Given the description of an element on the screen output the (x, y) to click on. 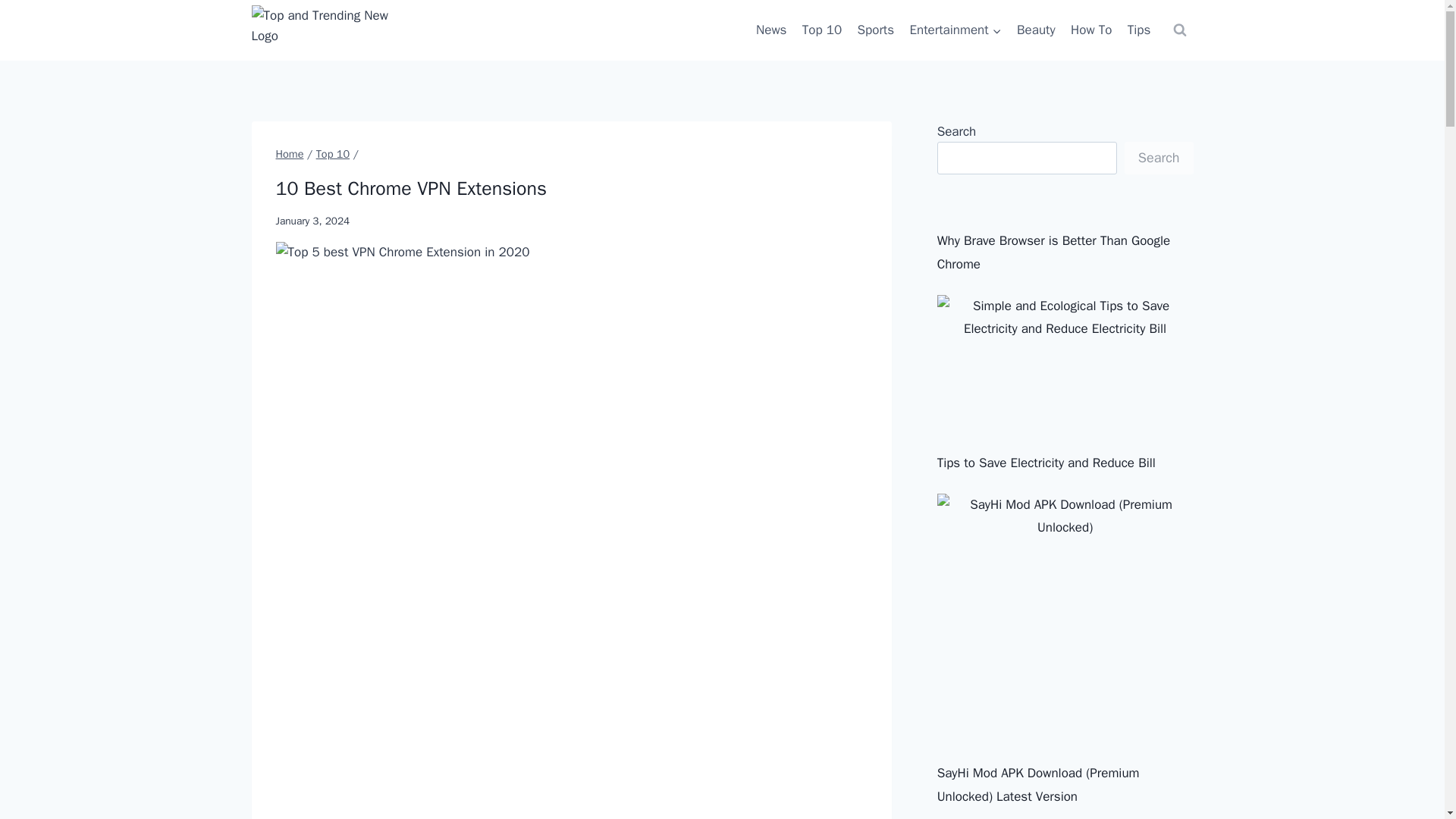
Search (1158, 157)
Entertainment (955, 30)
How To (1090, 30)
Top 10 (332, 153)
Top 10 (822, 30)
Home (290, 153)
Tips to Save Electricity and Reduce Bill (1046, 462)
Tips (1138, 30)
News (771, 30)
Beauty (1035, 30)
Why Brave Browser is Better Than Google Chrome (1053, 251)
Sports (874, 30)
